Given the description of an element on the screen output the (x, y) to click on. 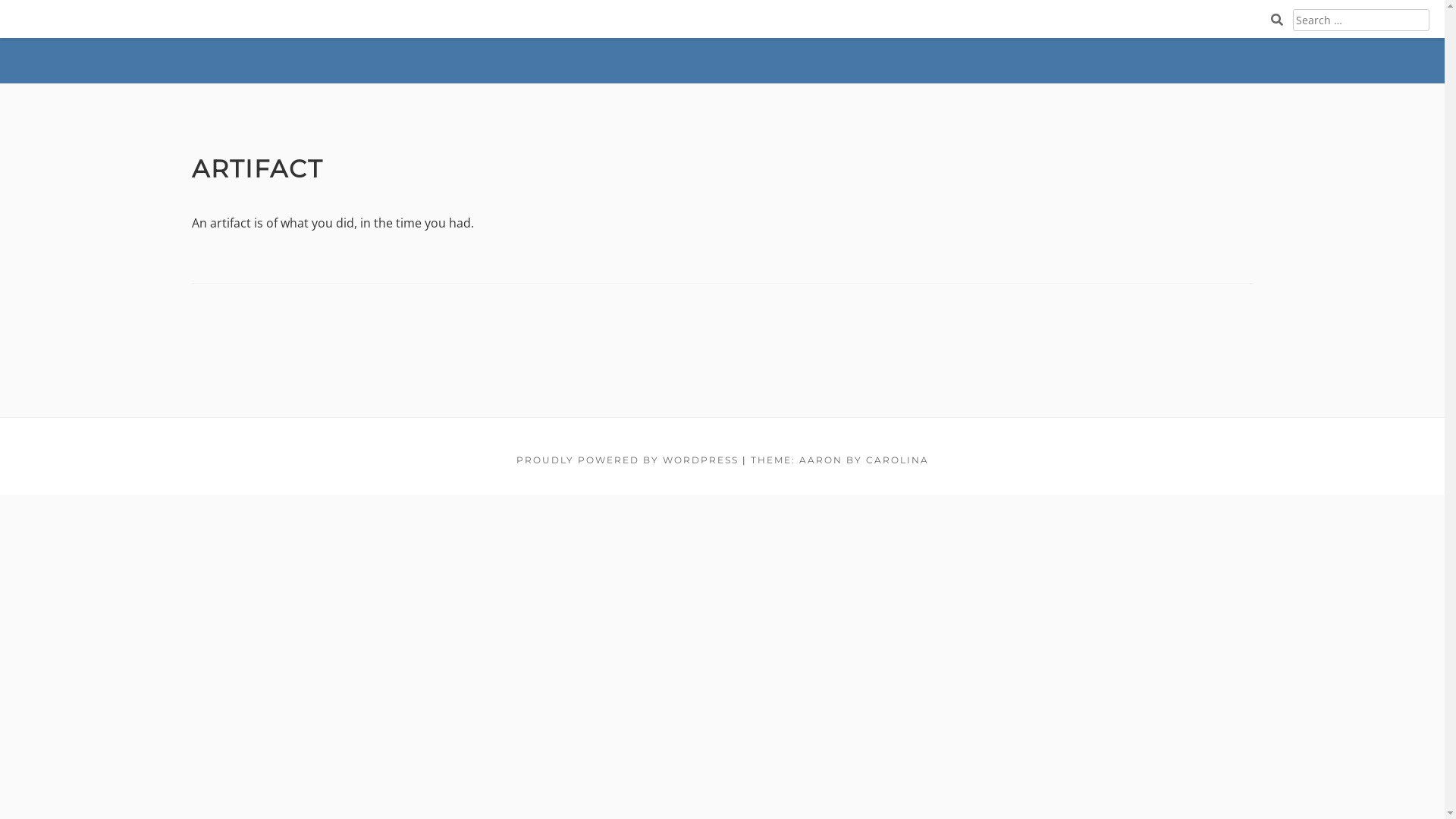
Search Element type: text (1440, 15)
THEME: AARON BY CAROLINA Element type: text (839, 459)
Skip to content Element type: text (0, 0)
PROUDLY POWERED BY WORDPRESS Element type: text (626, 459)
